Given the description of an element on the screen output the (x, y) to click on. 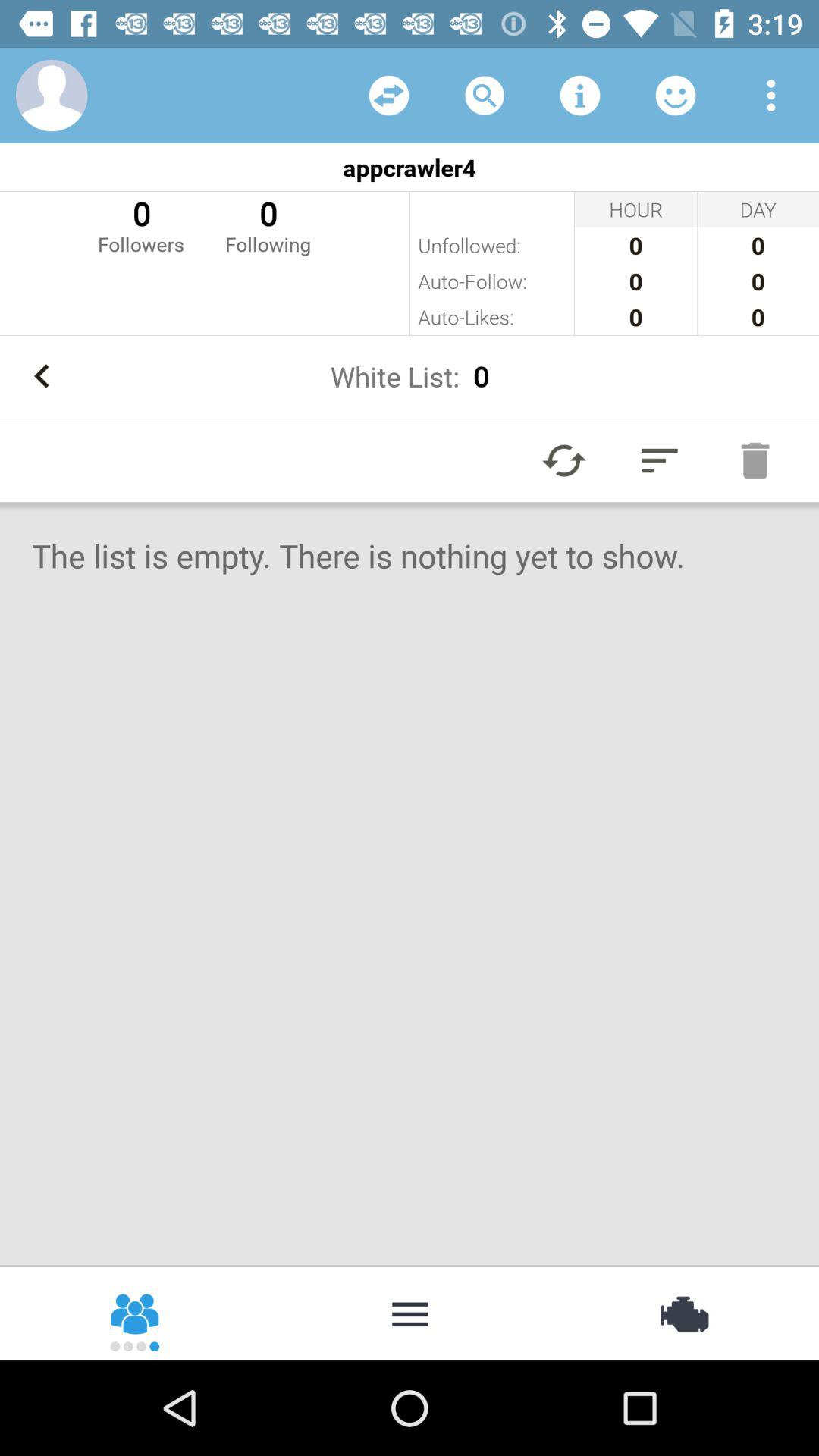
refresh list (563, 460)
